Given the description of an element on the screen output the (x, y) to click on. 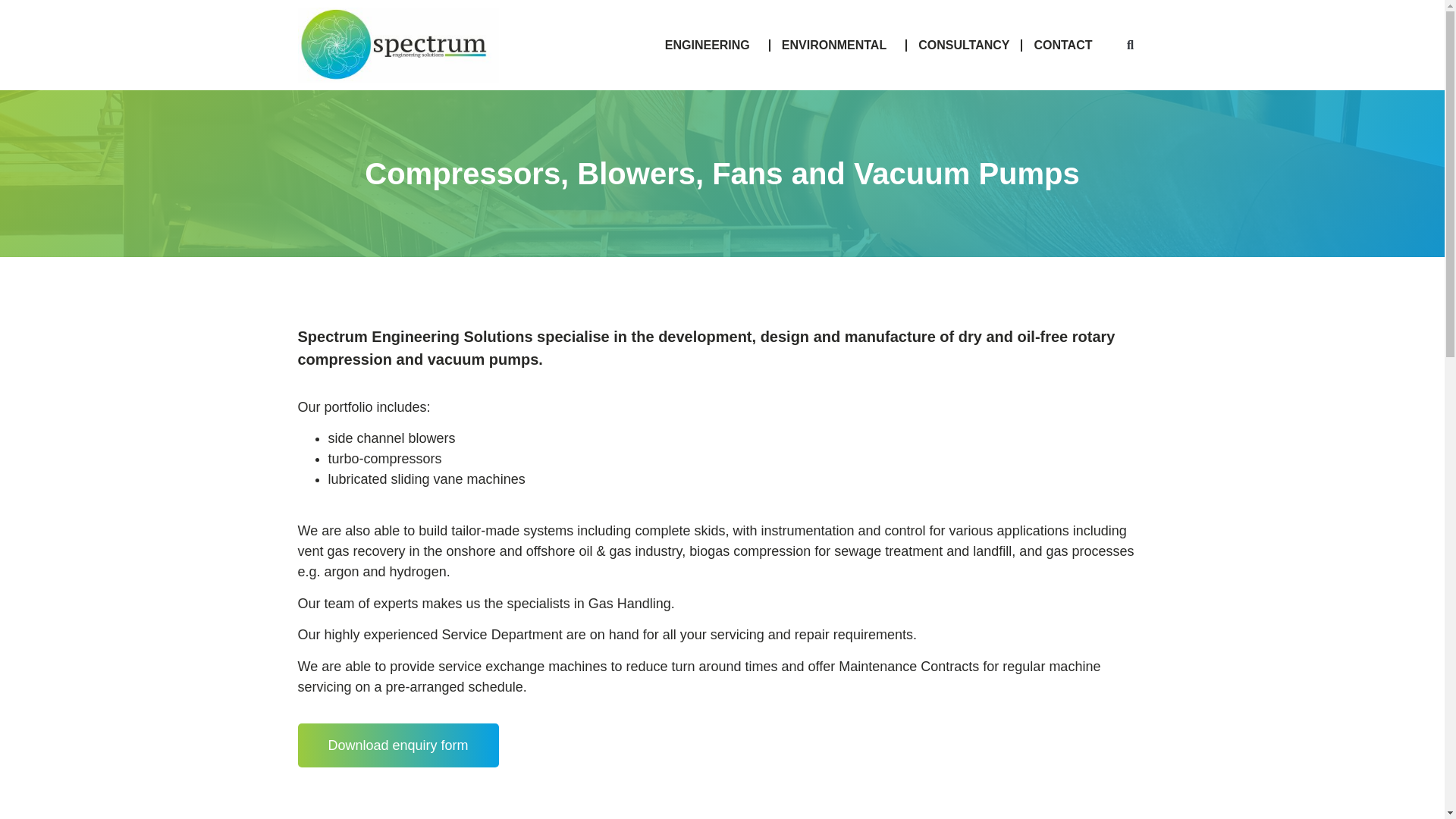
CONTACT (1062, 45)
CONSULTANCY (963, 45)
ENGINEERING (710, 45)
Download enquiry form (397, 745)
ENVIRONMENTAL (837, 45)
